Given the description of an element on the screen output the (x, y) to click on. 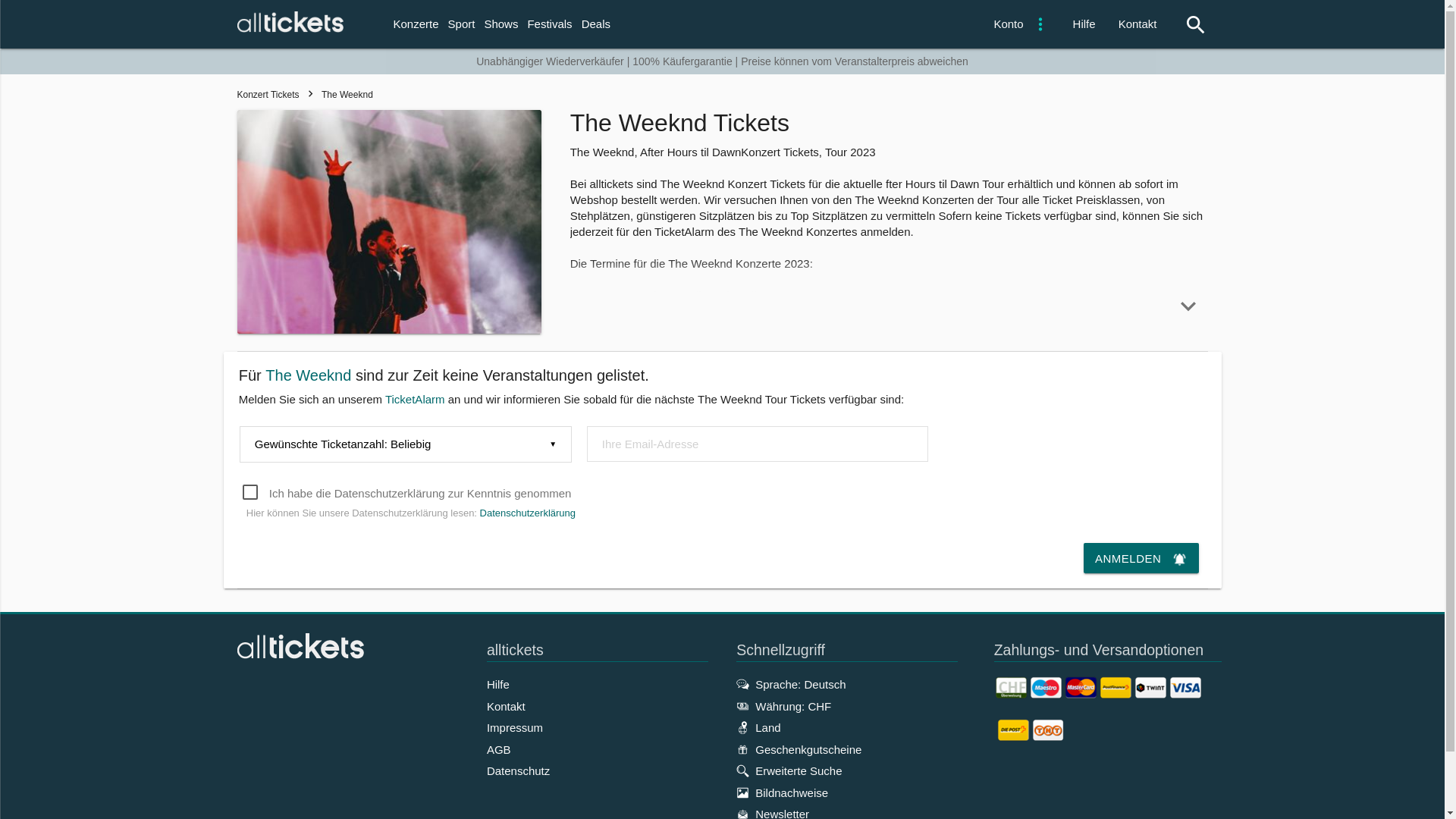
Impressum Element type: text (514, 727)
Land Element type: text (758, 727)
Kontakt Element type: text (505, 705)
TicketAlarm Element type: text (415, 398)
ANMELDEN
notifications_active Element type: text (1140, 557)
The Weeknd Element type: text (337, 94)
Kontakt Element type: text (1137, 24)
Erweiterte Suche Element type: text (788, 770)
Konzerte Element type: text (415, 24)
Datenschutz Element type: text (517, 770)
Deals Element type: text (596, 24)
The Weeknd Tickets Element type: hover (388, 223)
Konto
more_vert Element type: text (1017, 24)
Sport Element type: text (461, 24)
Shows Element type: text (500, 24)
Hilfe Element type: text (497, 683)
Konzert Tickets Element type: text (268, 94)
AGB Element type: text (498, 749)
Festivals Element type: text (549, 24)
Bildnachweise Element type: text (782, 792)
Geschenkgutscheine Element type: text (798, 749)
Sprache: Deutsch Element type: text (790, 683)
Hilfe Element type: text (1084, 24)
search Element type: text (1187, 24)
